Given the description of an element on the screen output the (x, y) to click on. 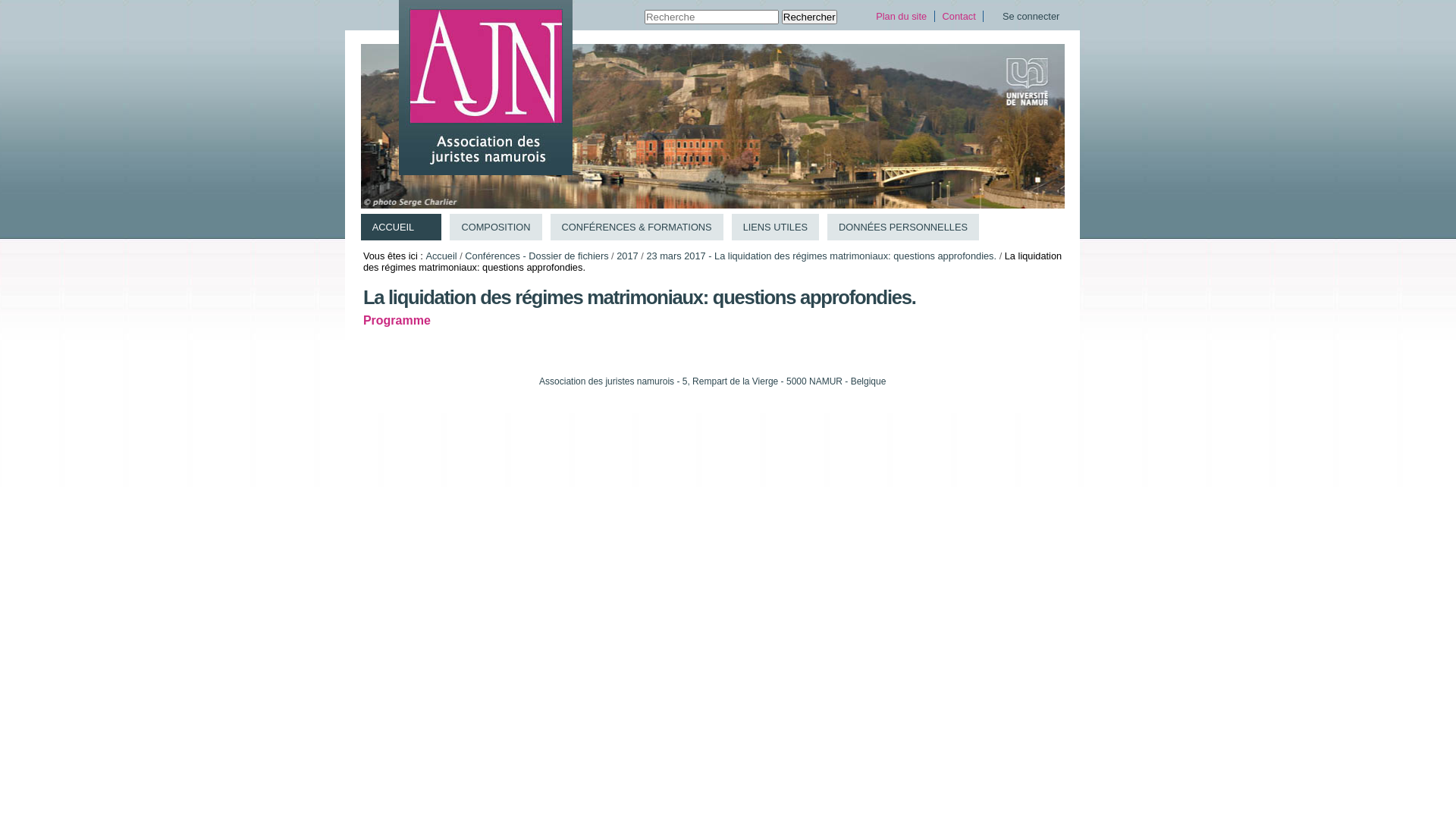
LIENS UTILES Element type: text (775, 226)
Contact Element type: text (958, 15)
Se connecter Element type: text (1030, 15)
2017 Element type: text (626, 255)
Rechercher Element type: text (809, 16)
Association des juristes namurois (AJN) Element type: hover (485, 87)
Aller au contenu. Element type: text (382, 48)
Accueil Element type: text (440, 255)
Association des juristes namurois (AJN) Element type: hover (485, 87)
COMPOSITION Element type: text (495, 226)
Programme Element type: text (396, 319)
Plan du site Element type: text (900, 15)
ACCUEIL Element type: text (401, 226)
Recherche Element type: hover (711, 16)
